Given the description of an element on the screen output the (x, y) to click on. 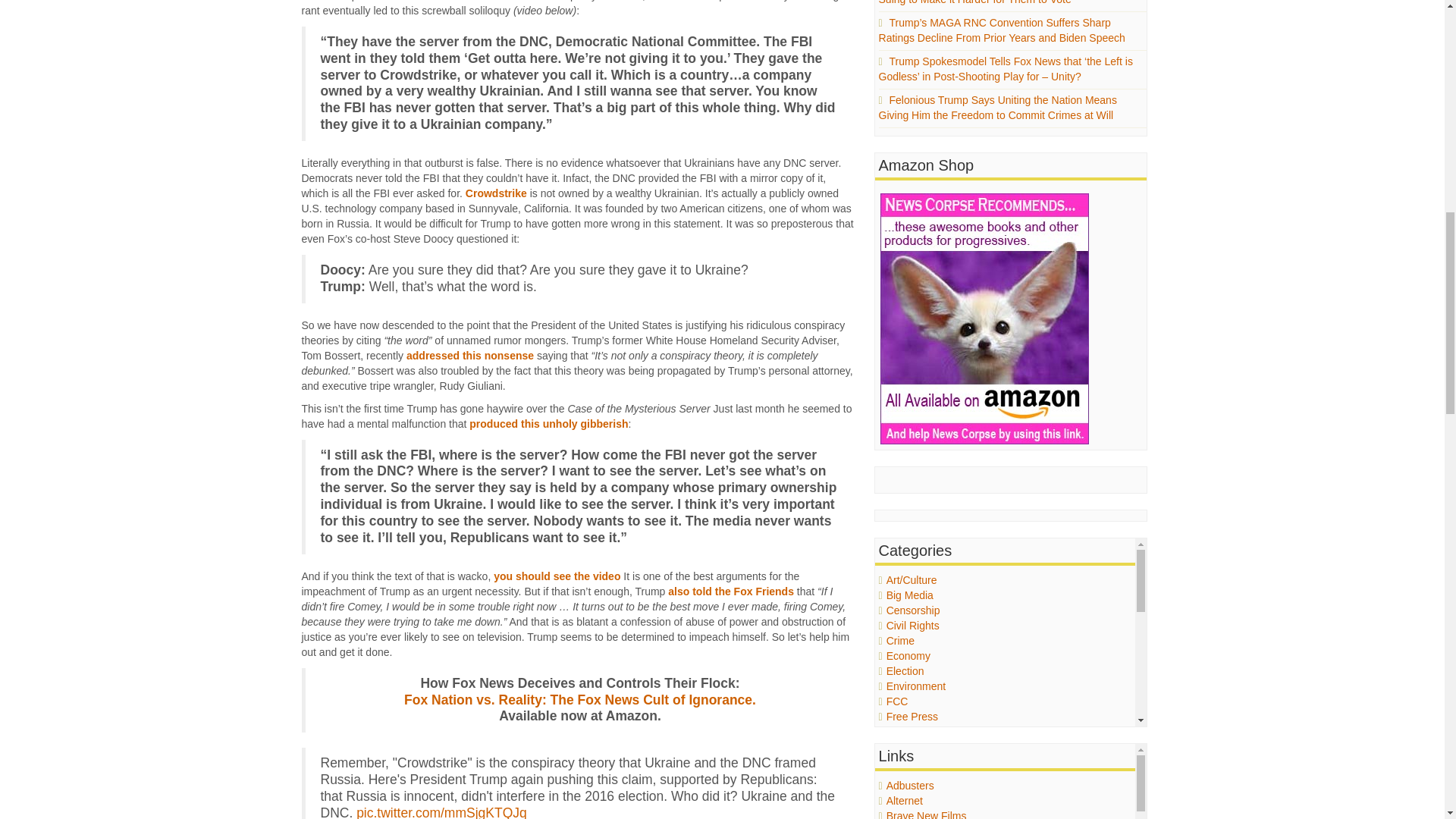
Crowdstrike (496, 193)
Fox Nation vs. Reality: The Fox News Cult of Ignorance. (579, 699)
addressed this nonsense (470, 355)
you should see the video (556, 576)
also told the Fox Friends (730, 591)
produced this unholy gibberish (547, 423)
